Given the description of an element on the screen output the (x, y) to click on. 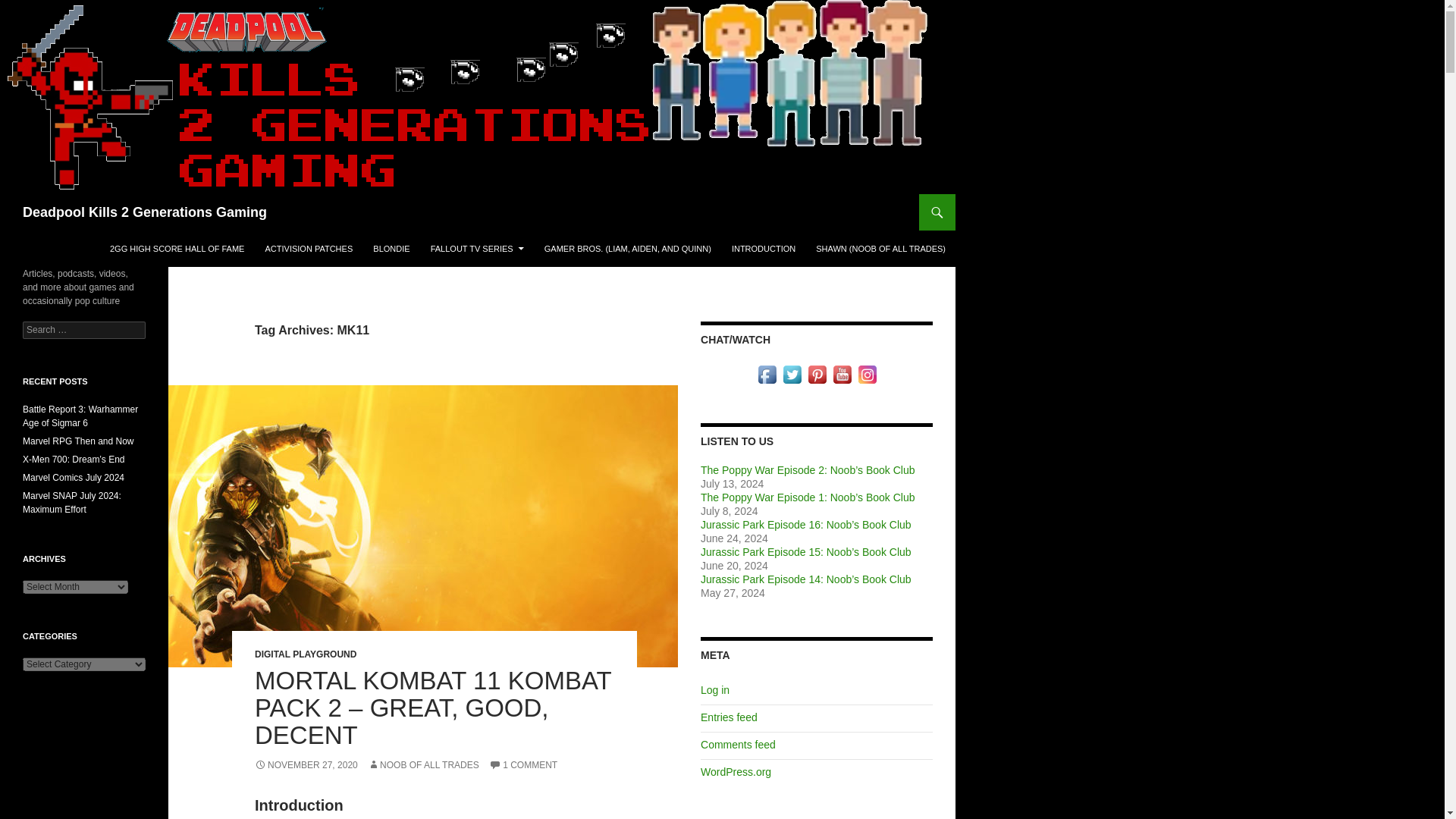
INTRODUCTION (763, 248)
FALLOUT TV SERIES (477, 248)
ACTIVISION PATCHES (309, 248)
Visit Us On Instagram (866, 373)
1 COMMENT (523, 765)
Visit Us On Twitter (791, 373)
DIGITAL PLAYGROUND (305, 654)
Visit Us On Facebook (766, 373)
Deadpool Kills 2 Generations Gaming (144, 212)
2GG HIGH SCORE HALL OF FAME (176, 248)
NOVEMBER 27, 2020 (306, 765)
NOOB OF ALL TRADES (423, 765)
Visit Us On Youtube (841, 373)
